Given the description of an element on the screen output the (x, y) to click on. 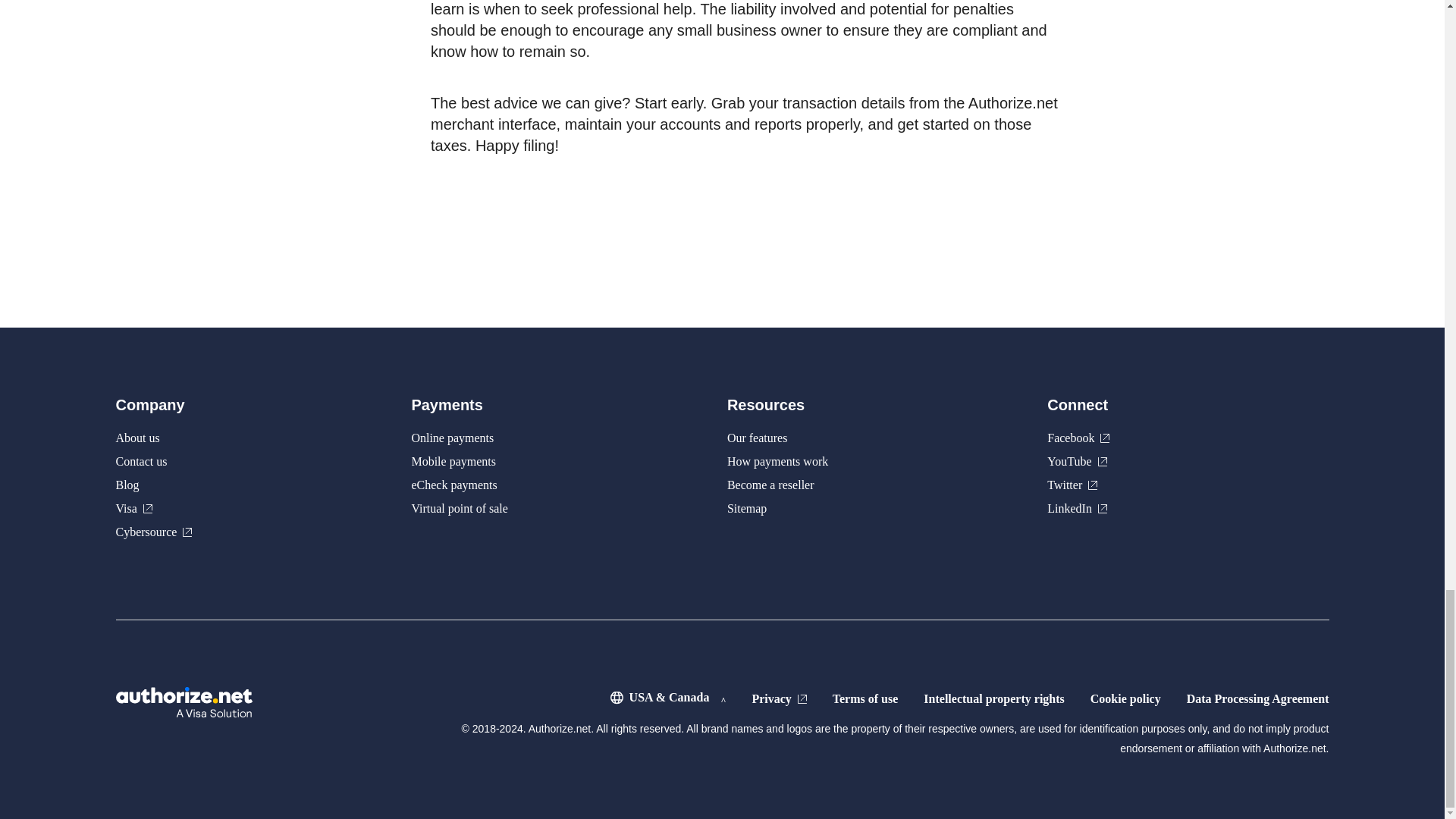
About us (136, 437)
Cybersource (153, 531)
Mobile payments (453, 461)
Visa (133, 508)
eCheck payments (453, 484)
Blog (126, 484)
Virtual point of sale (458, 508)
Contact us (141, 461)
How payments work (777, 461)
Our features (756, 437)
